Given the description of an element on the screen output the (x, y) to click on. 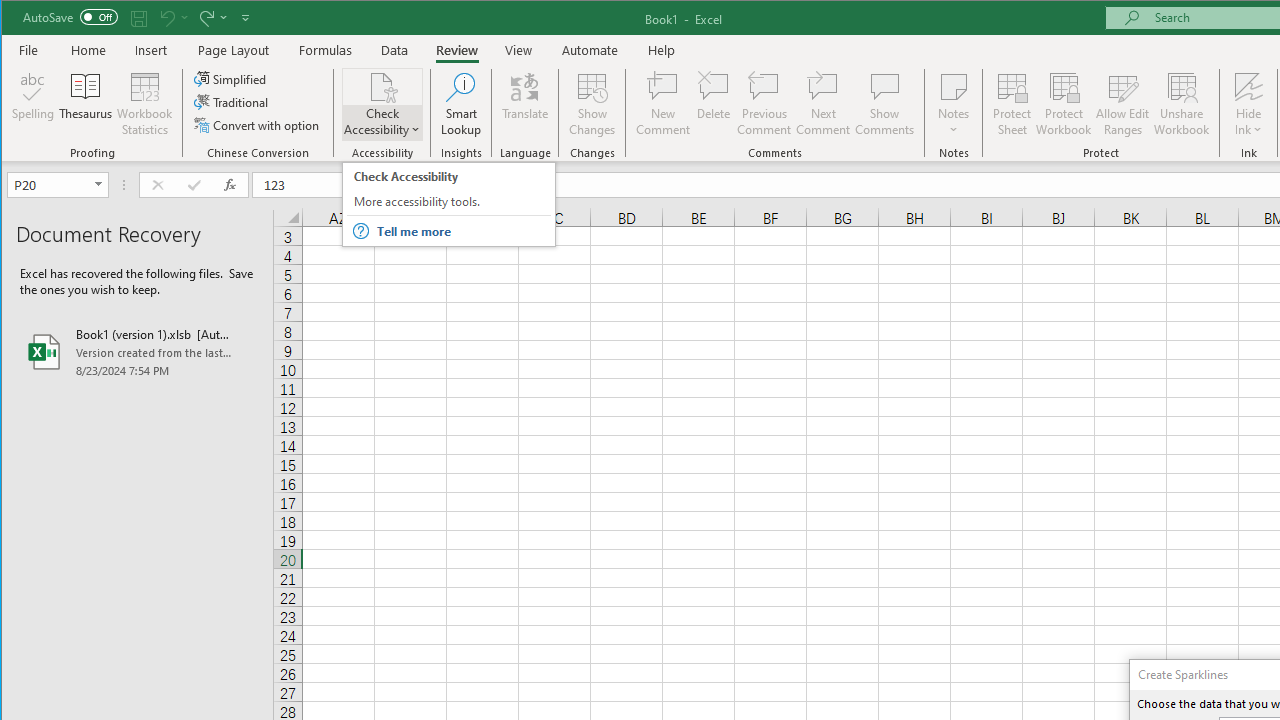
Spelling... (33, 104)
Protect Sheet... (1012, 104)
Notes (954, 104)
Tell me more (462, 231)
Smart Lookup (461, 104)
Convert with option (258, 124)
Previous Comment (763, 104)
Unshare Workbook (1182, 104)
